Given the description of an element on the screen output the (x, y) to click on. 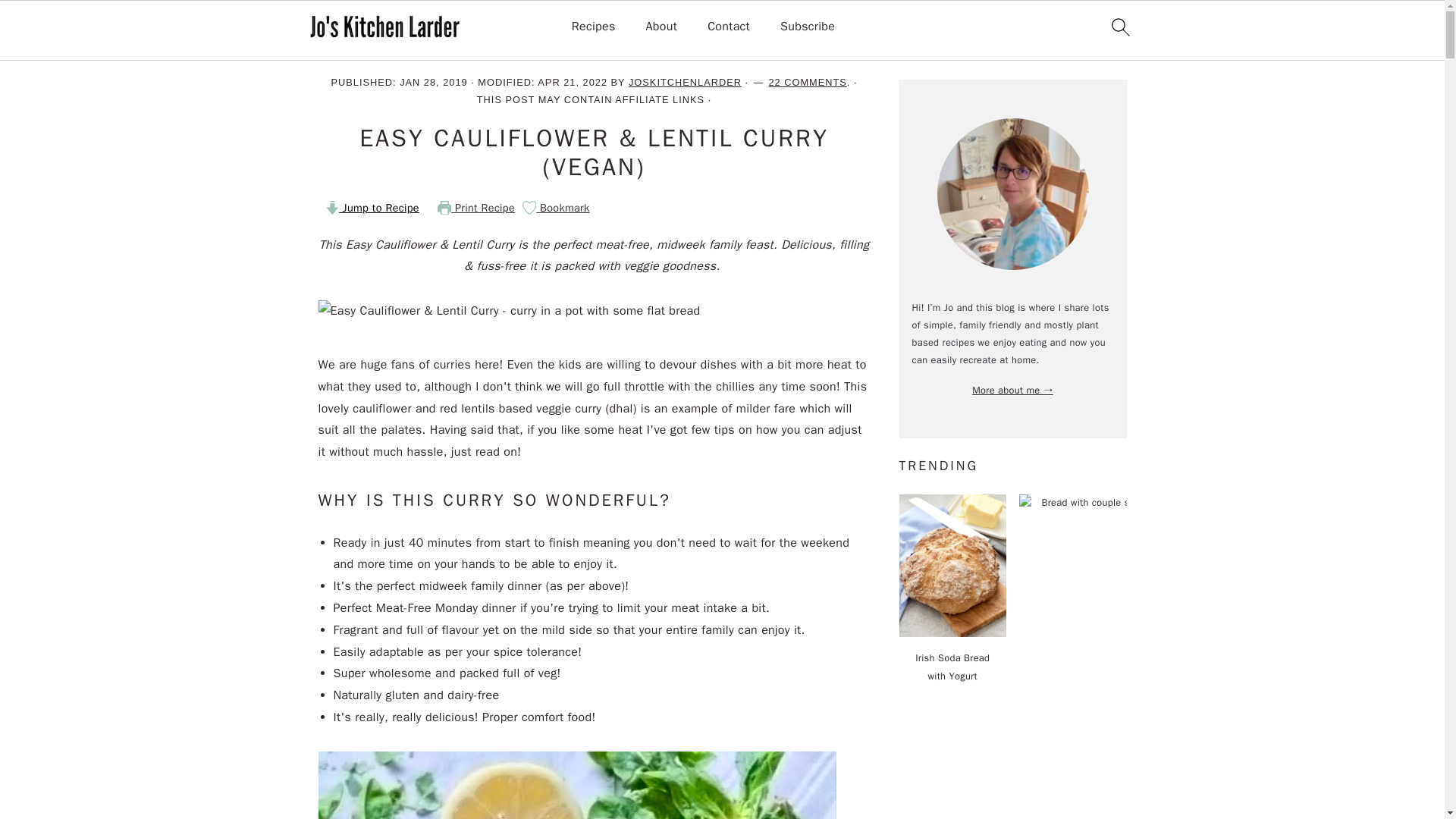
Subscribe (807, 26)
Home (334, 50)
Vegetarian (448, 50)
22 COMMENTS (806, 81)
Contact (728, 26)
JOSKITCHENLARDER (684, 81)
Print Recipe (476, 207)
search icon (1119, 26)
Recipes (384, 50)
